Given the description of an element on the screen output the (x, y) to click on. 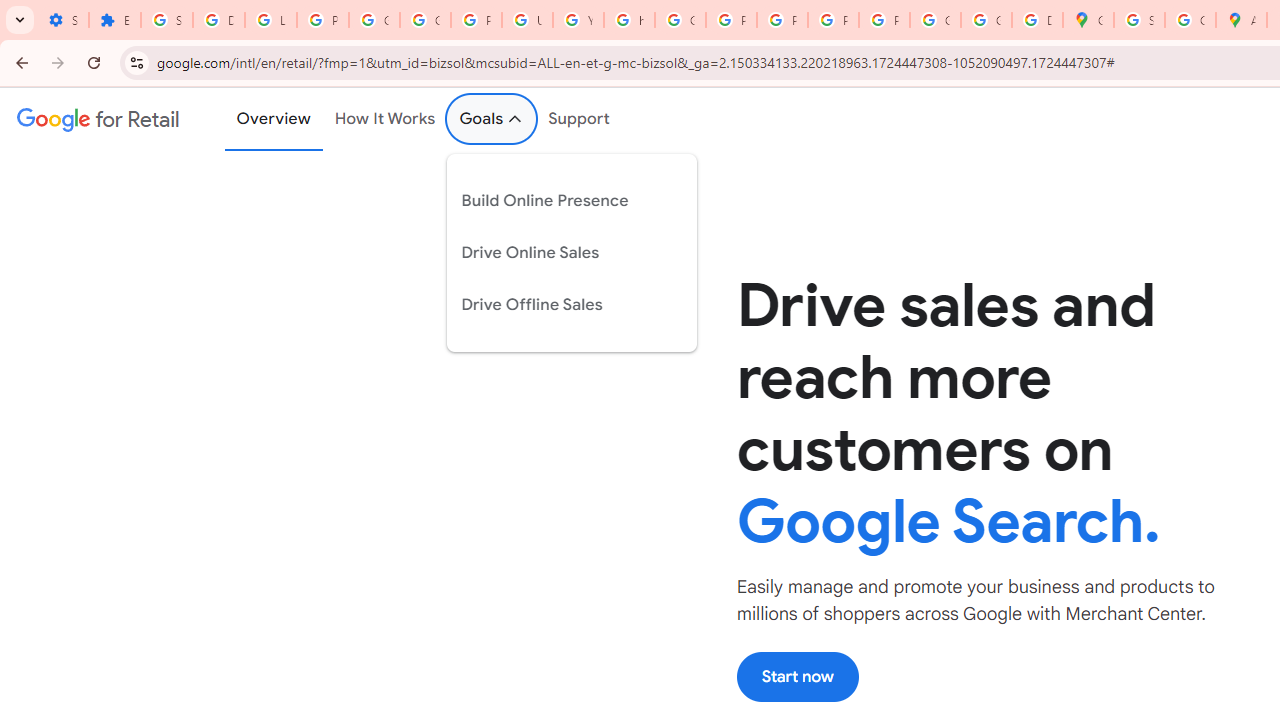
Support (579, 119)
Google for Retail (98, 119)
Settings - On startup (63, 20)
Build Online Presence (556, 199)
Goals (491, 119)
Goals (491, 119)
Learn how to find your photos - Google Photos Help (270, 20)
